Given the description of an element on the screen output the (x, y) to click on. 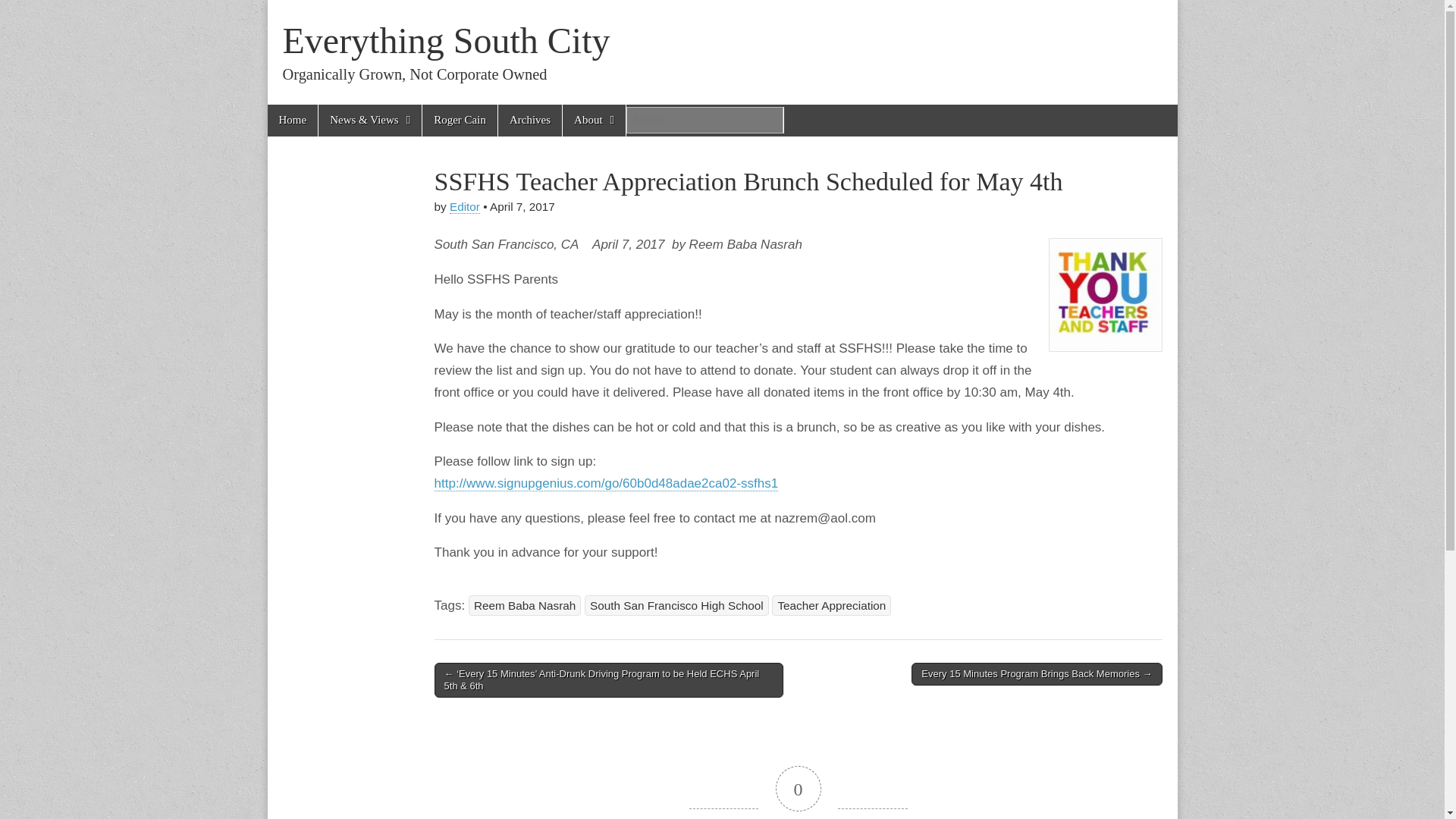
Home (291, 119)
South San Francisco High School (676, 605)
Teacher Appreciation (831, 605)
Archives (529, 119)
Roger Cain (459, 119)
Posts by Editor (464, 206)
Everything South City (446, 40)
Everything South City (446, 40)
